Given the description of an element on the screen output the (x, y) to click on. 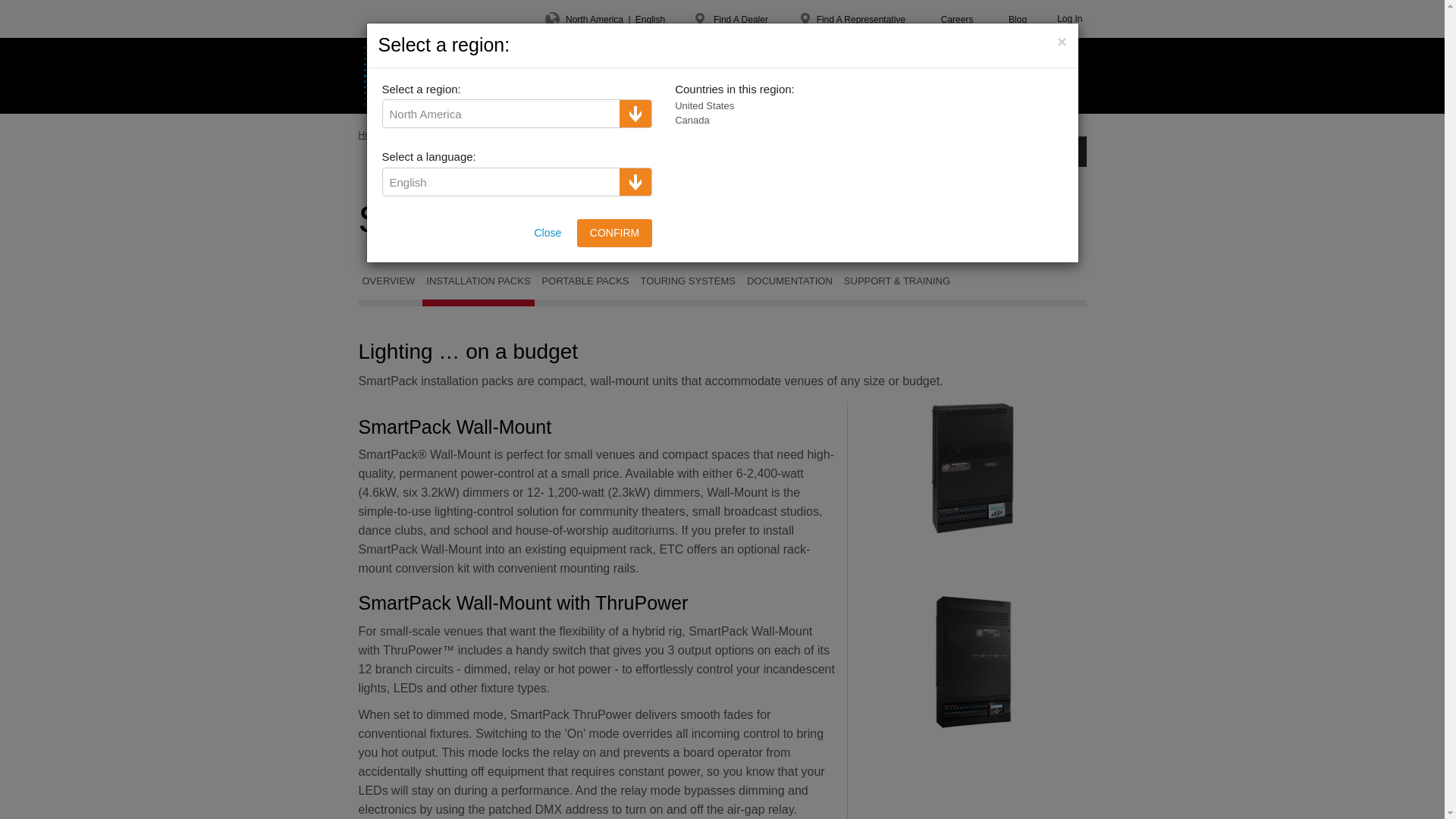
Confirm (614, 232)
PRODUCTS (492, 75)
ABOUT ETC (740, 75)
Print this page (891, 134)
Select your region and Language (605, 18)
SmartPack Wall Mount clip (972, 468)
ETC Home (395, 75)
See all ETC products (809, 134)
